Given the description of an element on the screen output the (x, y) to click on. 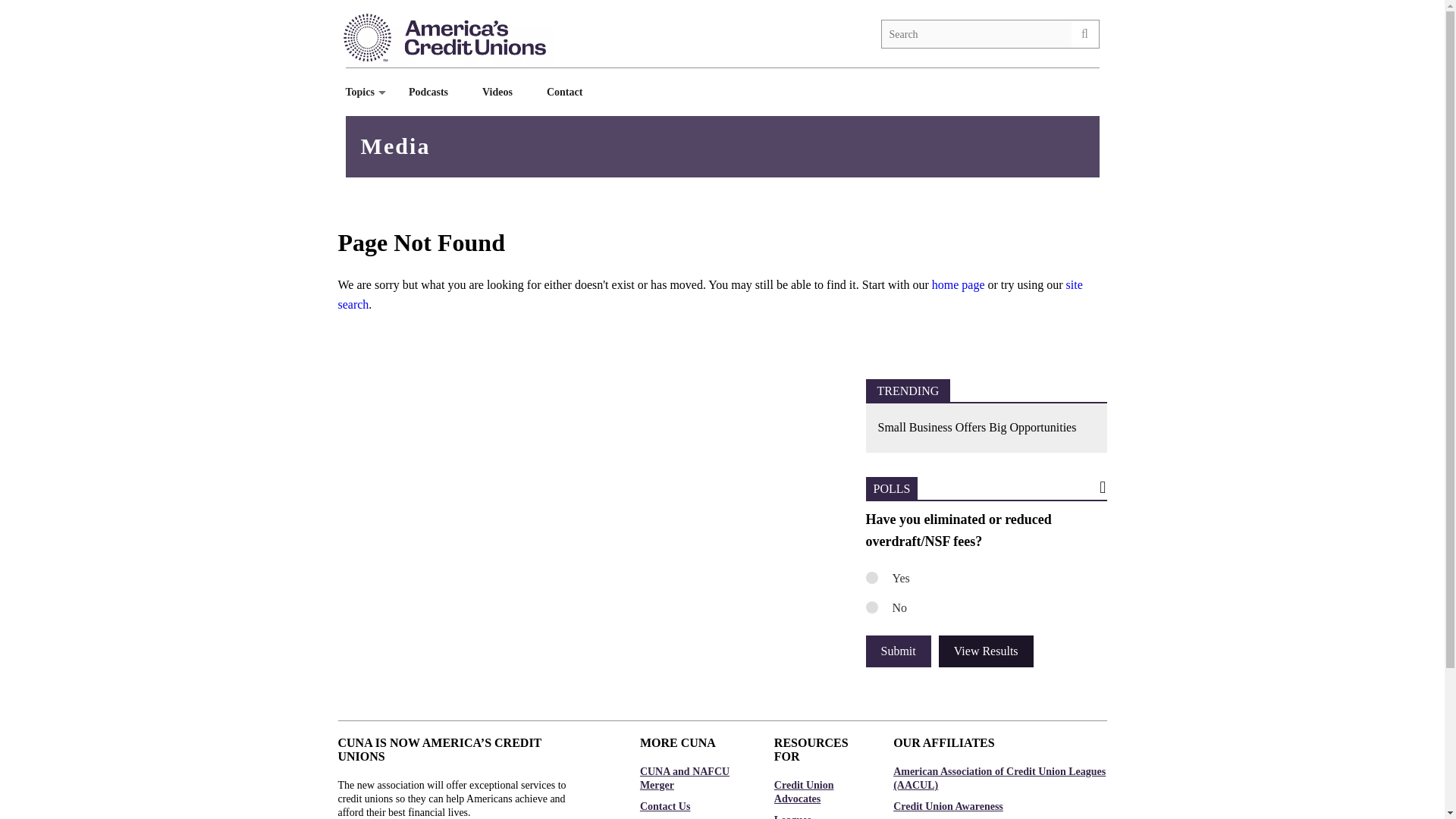
Submit (898, 651)
Small Business Offers Big Opportunities (986, 427)
POLLS (892, 488)
Leagues (818, 816)
Contact (570, 91)
Podcasts (434, 91)
Submit (898, 651)
View Results (986, 651)
CUNA and NAFCU Merger (692, 778)
Credit Union Advocates (818, 791)
